Given the description of an element on the screen output the (x, y) to click on. 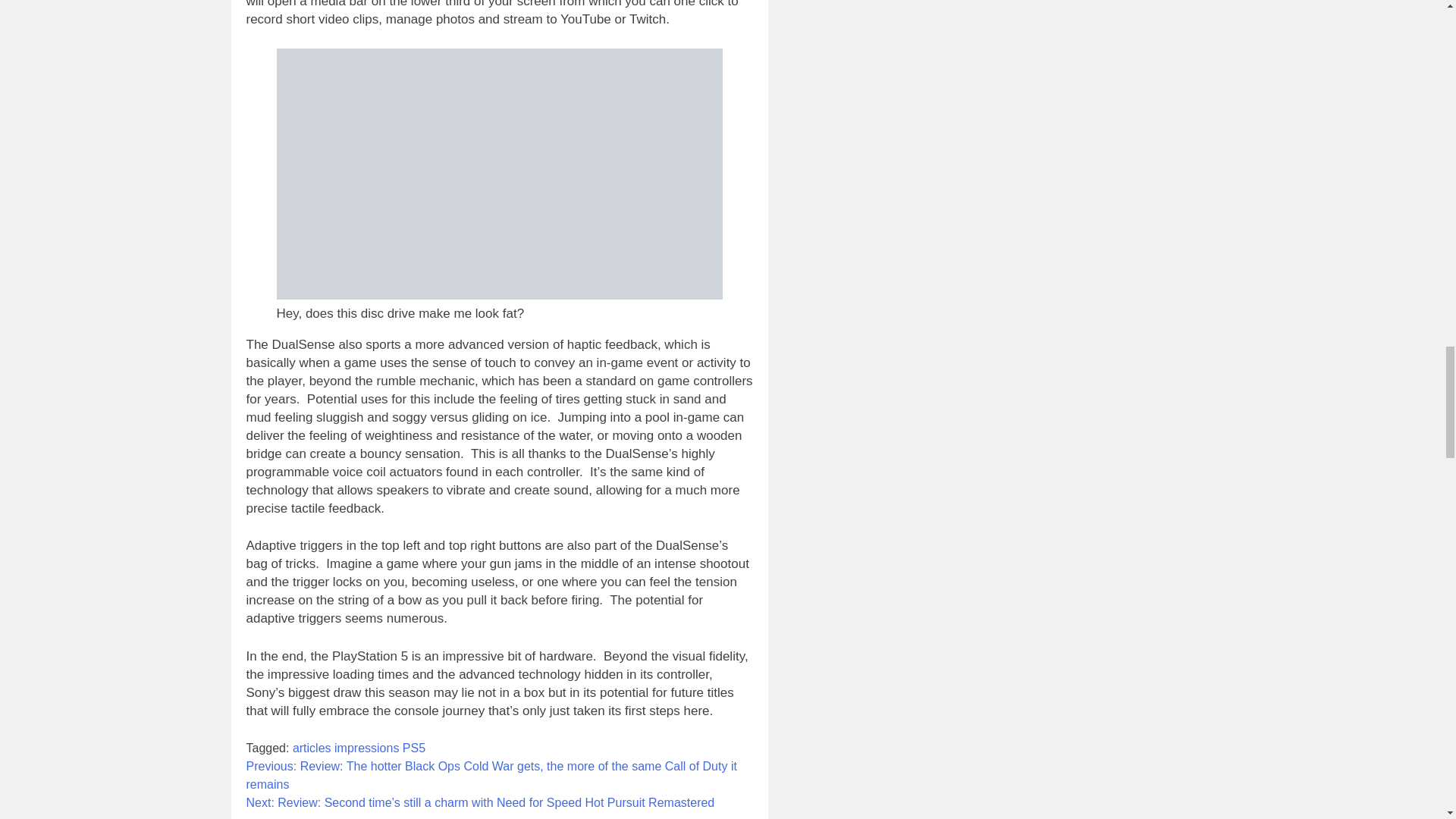
PS5 (414, 748)
impressions (366, 748)
articles (311, 748)
